Given the description of an element on the screen output the (x, y) to click on. 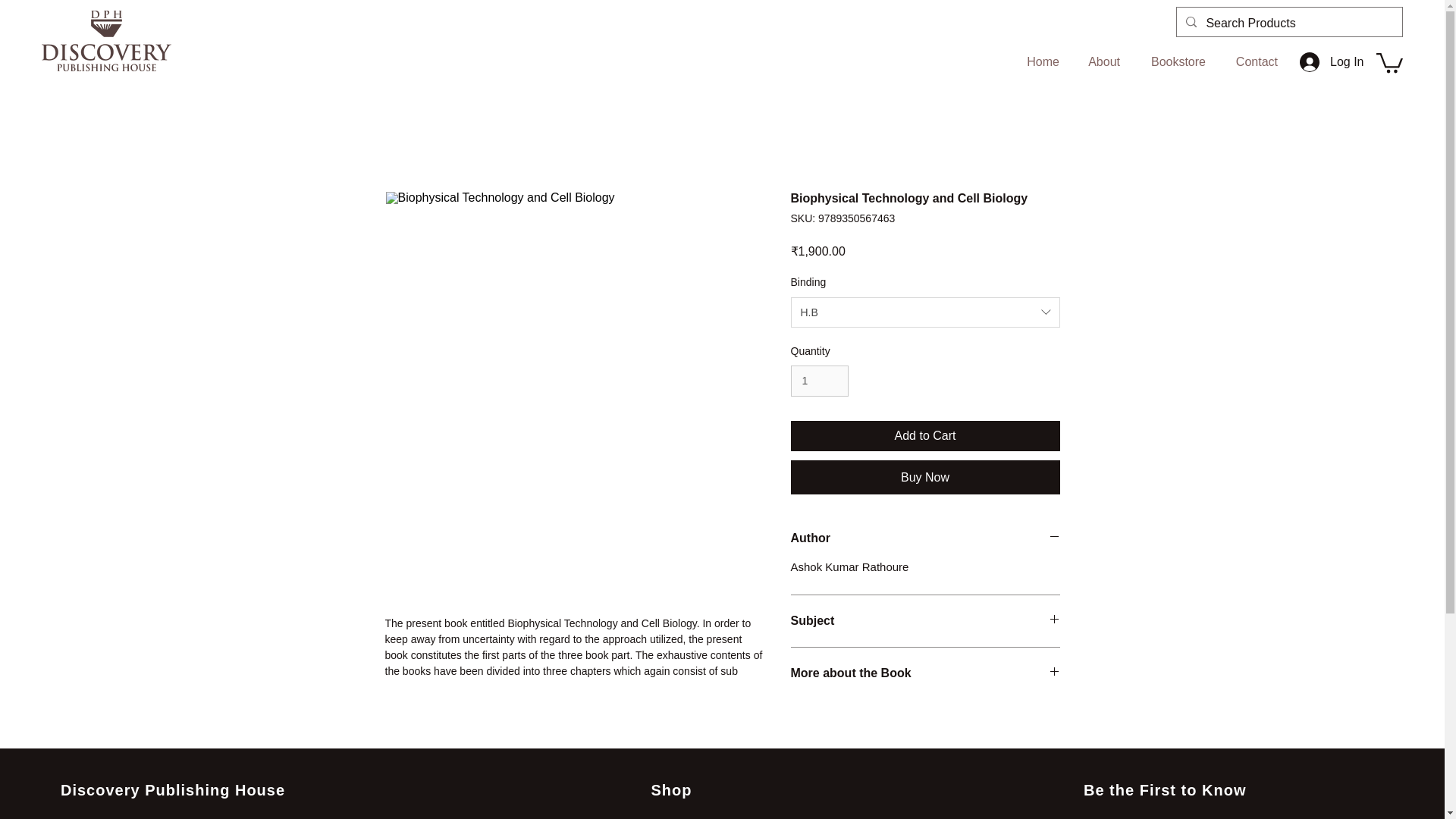
Log In (1319, 61)
Bookstore (1174, 61)
1 (818, 380)
More about the Book (924, 672)
Add to Cart (924, 435)
Buy Now (924, 477)
Subject (924, 620)
About (1100, 61)
Contact (1252, 61)
Author (924, 538)
